Given the description of an element on the screen output the (x, y) to click on. 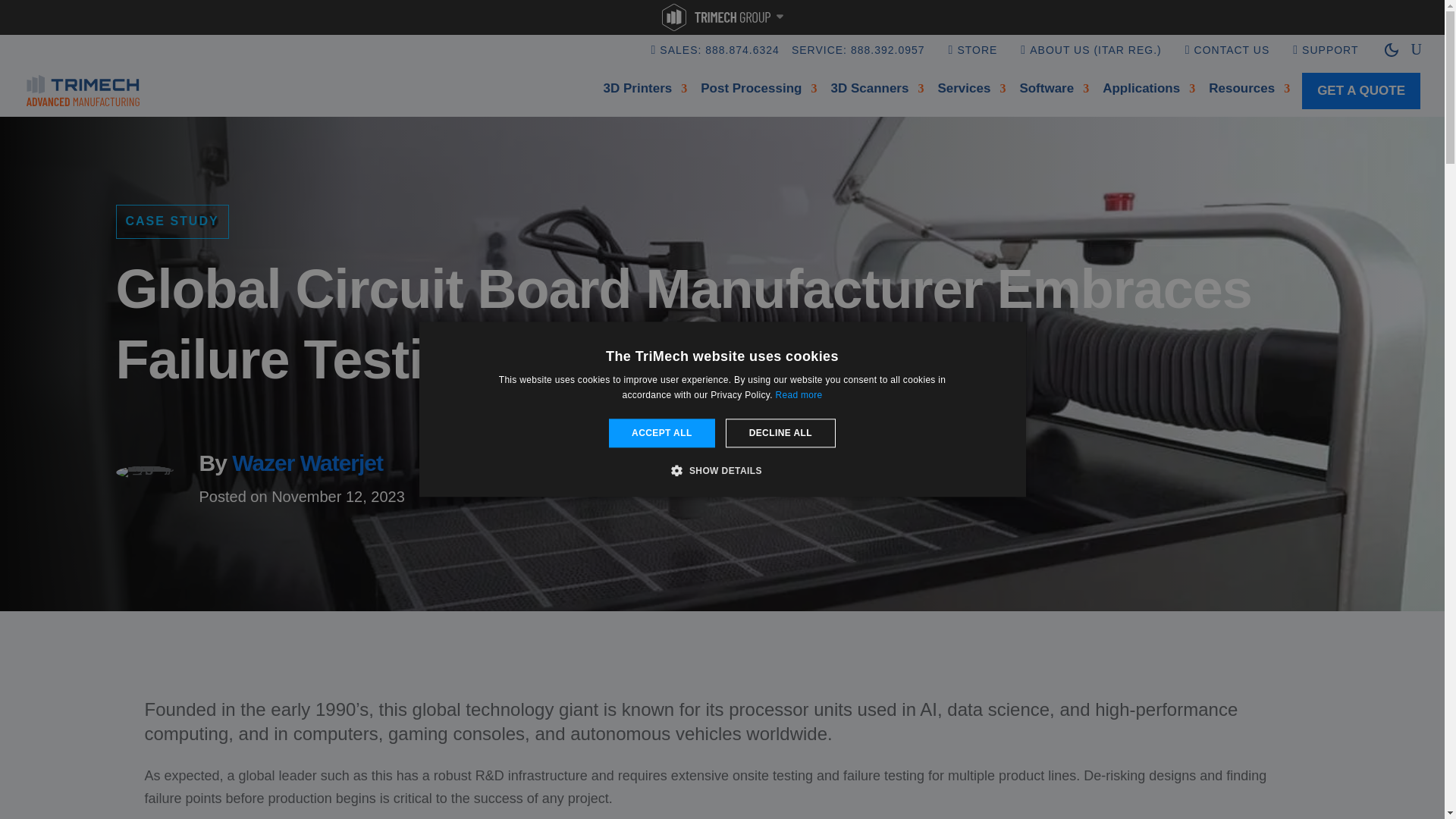
SALES: 888.874.6324 (718, 60)
STORE (976, 60)
SERVICE: 888.392.0957 (858, 60)
CONTACT US (1231, 60)
3D Printers (644, 91)
SUPPORT (1329, 60)
